Given the description of an element on the screen output the (x, y) to click on. 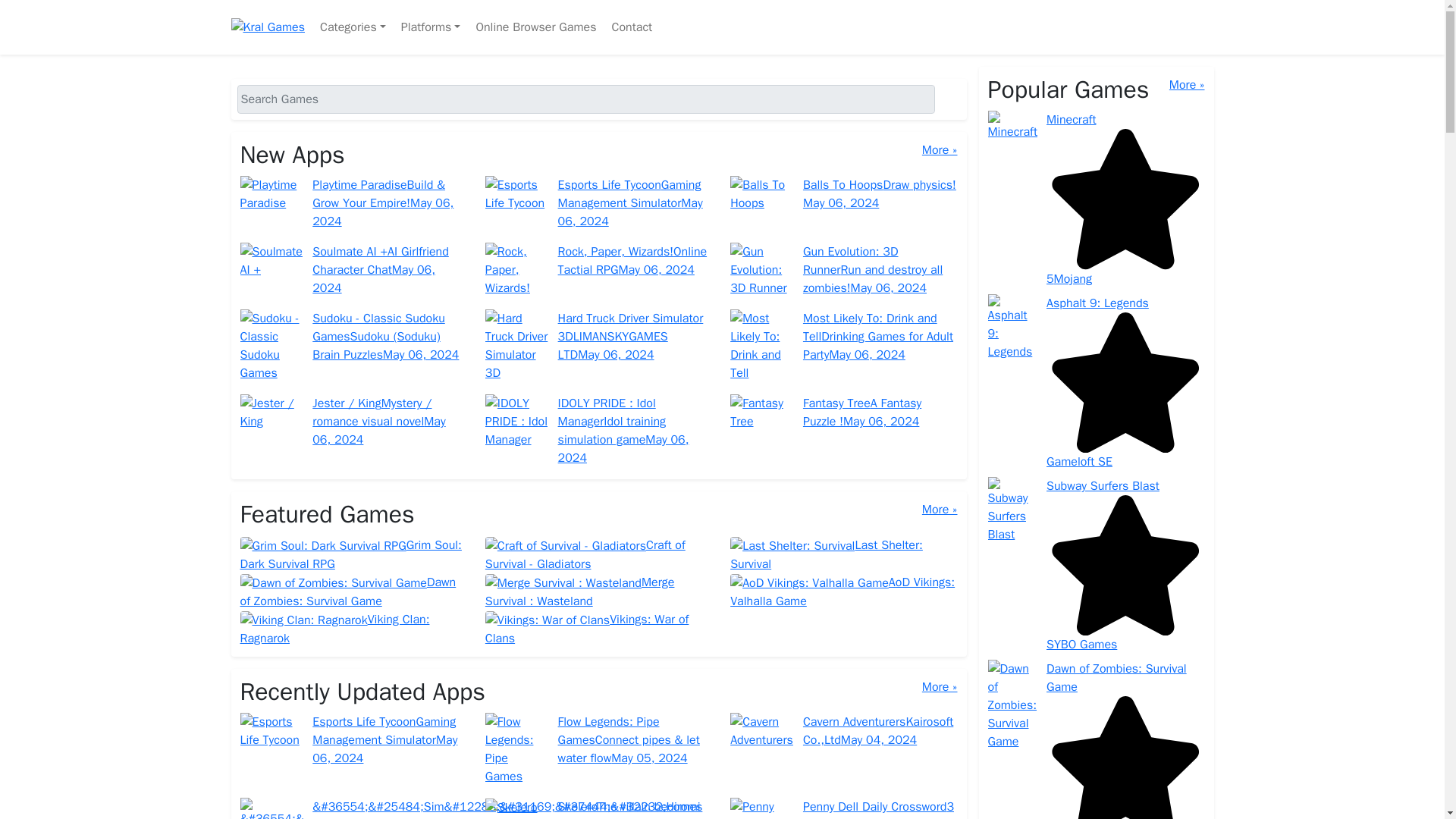
Categories (352, 27)
Online Browser Games (535, 27)
Rock, Paper, Wizards!Online Tactial RPGMay 06, 2024 (597, 269)
Platforms (430, 27)
Hard Truck Driver Simulator 3DLIMANSKYGAMES LTDMay 06, 2024 (597, 345)
Esports Life TycoonGaming Management SimulatorMay 06, 2024 (597, 203)
Contact (631, 27)
